Given the description of an element on the screen output the (x, y) to click on. 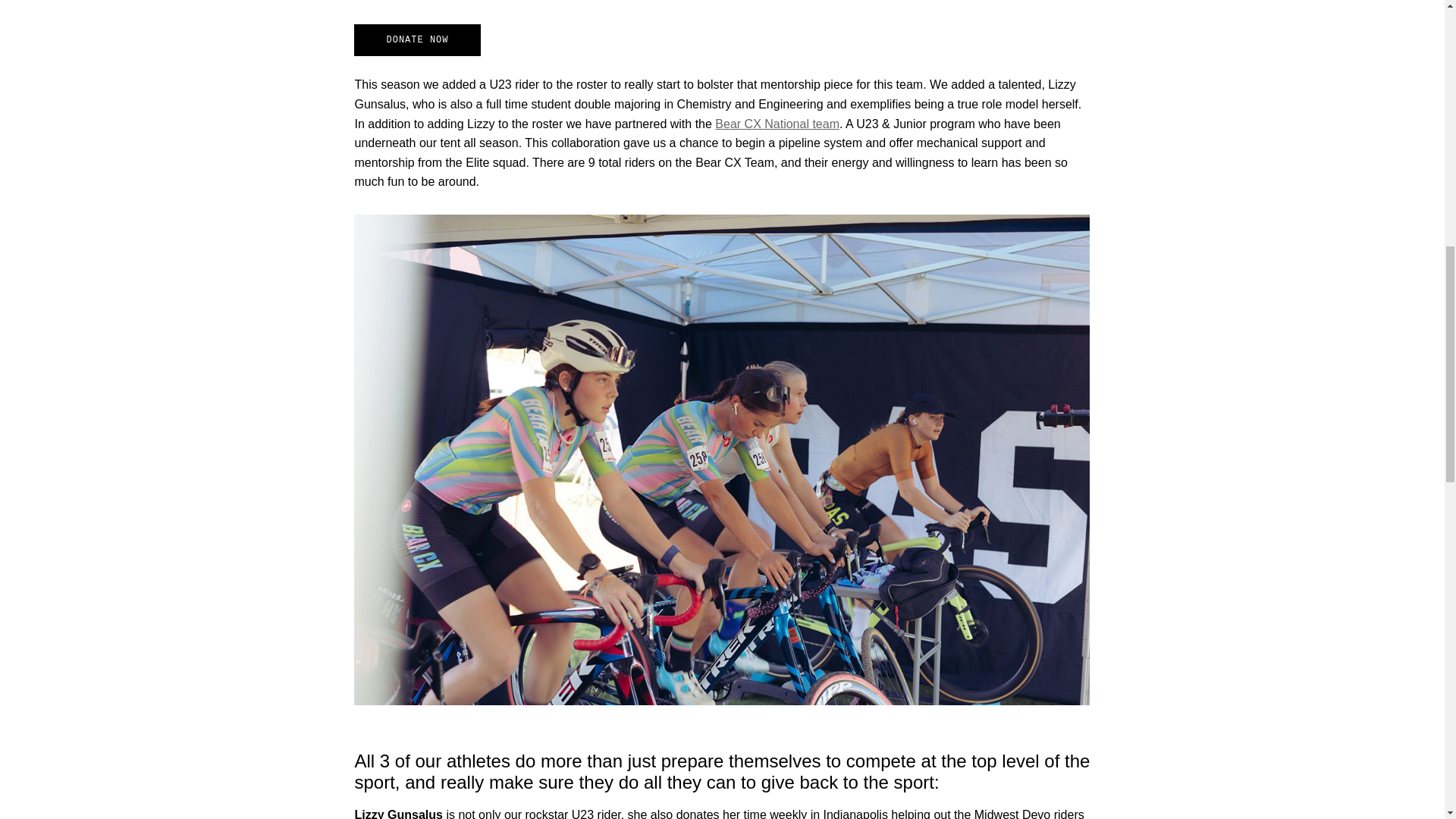
Bear CX National team (777, 123)
DONATE NOW (416, 40)
